Given the description of an element on the screen output the (x, y) to click on. 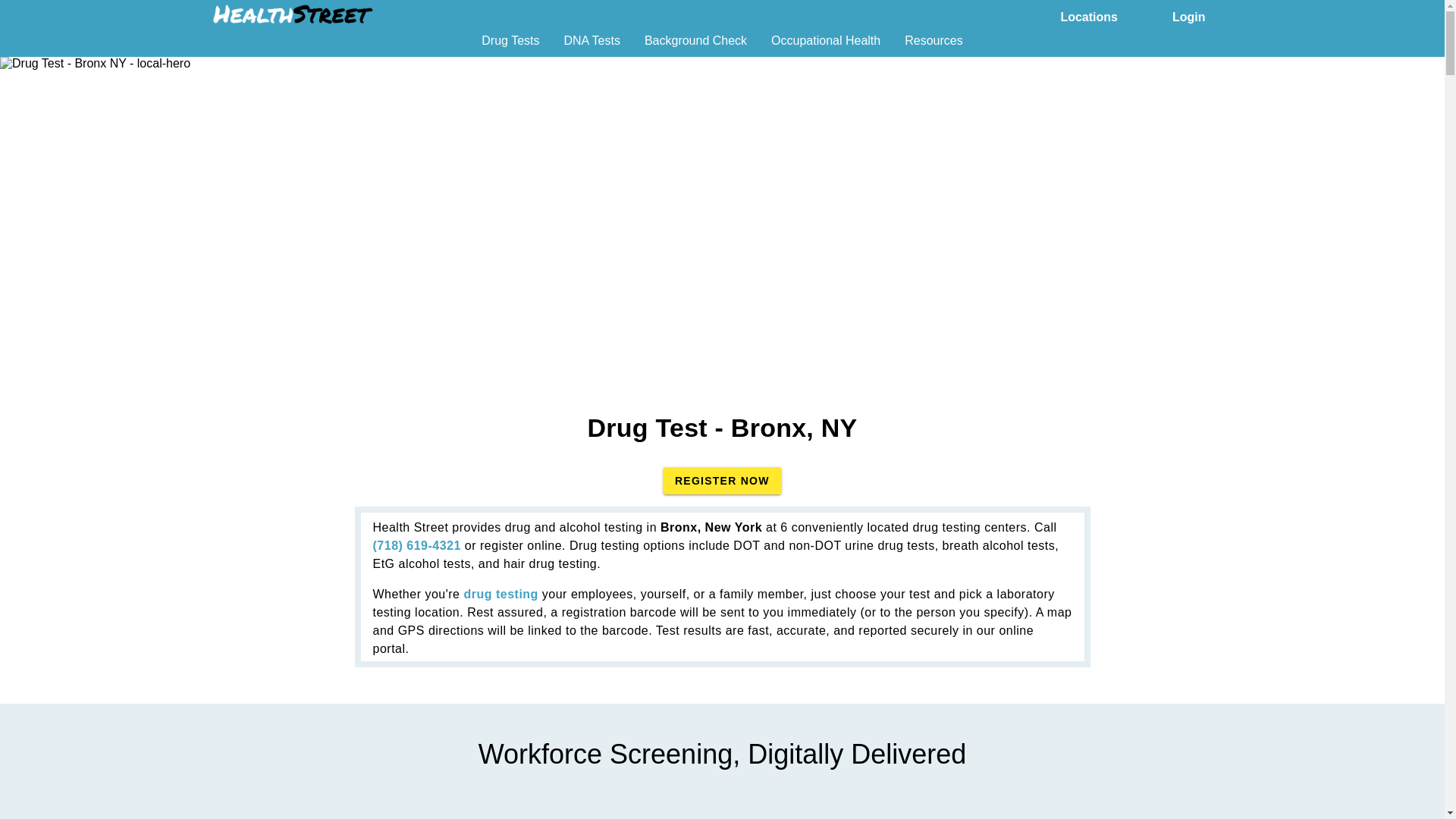
Occupational Health (825, 46)
Drug Tests (509, 46)
Drug Test - Bronx NY (95, 63)
Login (1189, 15)
DNA Tests (592, 46)
Background Check (695, 46)
Register for drug and alcohol tests in Bronx, New York (721, 480)
HEALTH STREET (292, 14)
Locations (1088, 15)
register for drug testing (500, 594)
